Given the description of an element on the screen output the (x, y) to click on. 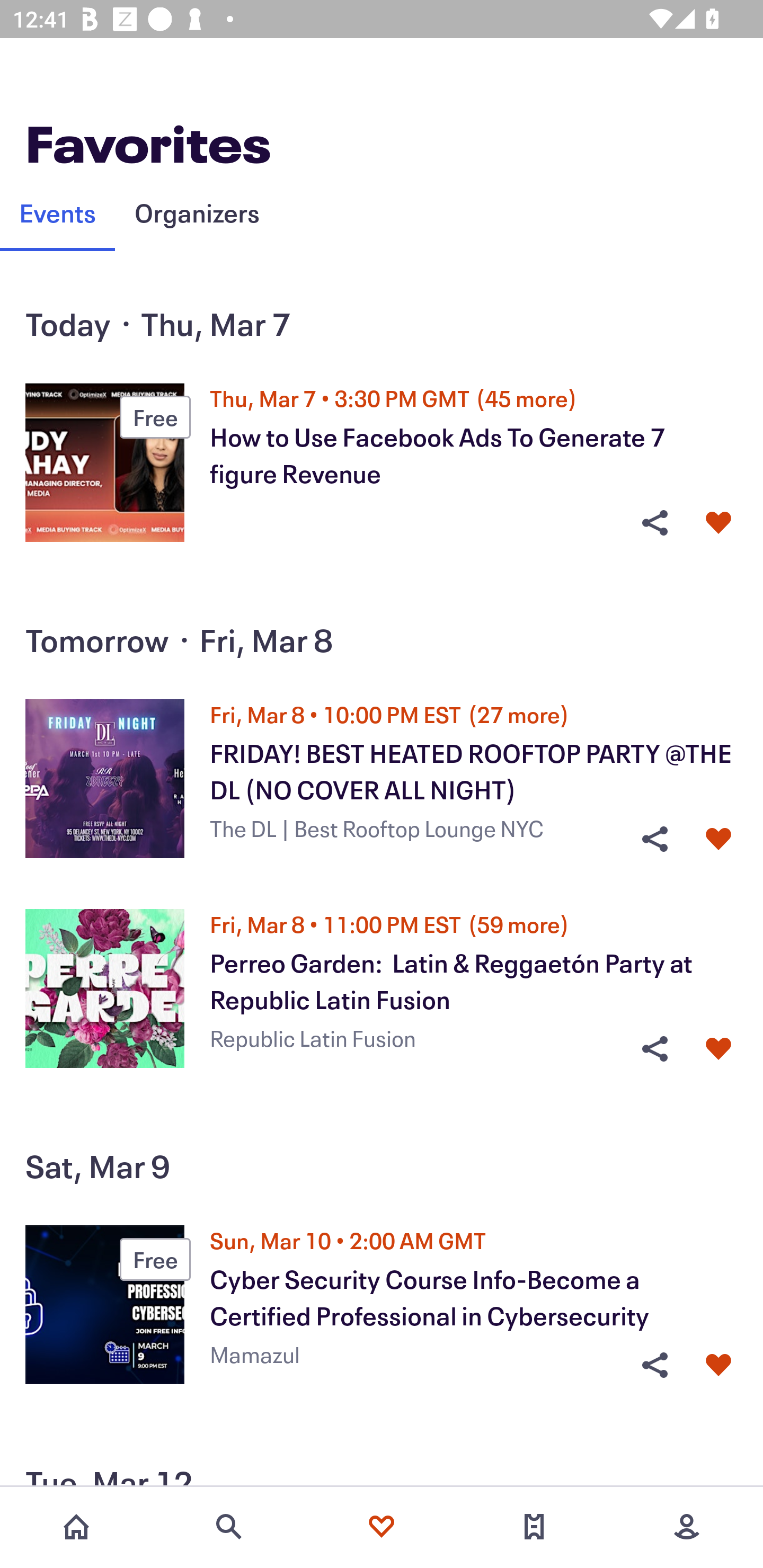
Organizers (196, 212)
Share Event (654, 522)
Unlike event (718, 522)
Share Event (654, 838)
Unlike event (718, 838)
Share Event (654, 1048)
Unlike event (718, 1048)
Share Event (654, 1364)
Unlike event (718, 1364)
Home (76, 1526)
Search events (228, 1526)
Favorites (381, 1526)
Tickets (533, 1526)
More (686, 1526)
